Given the description of an element on the screen output the (x, y) to click on. 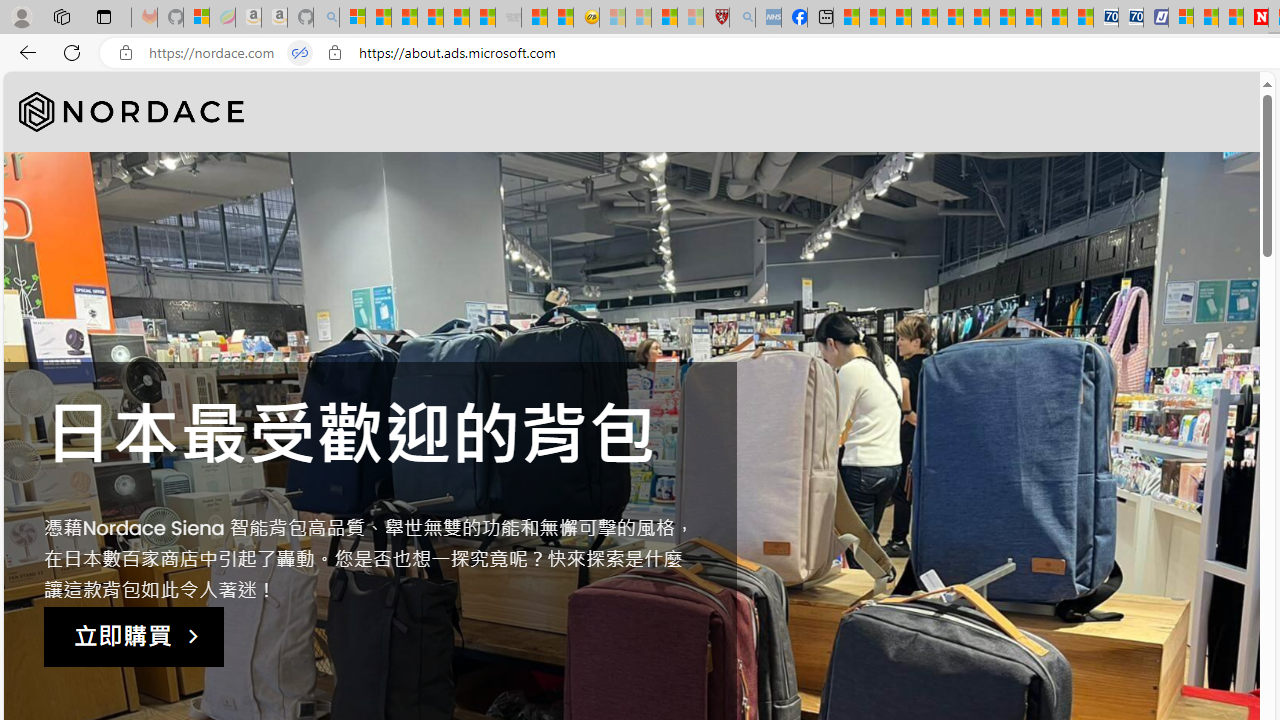
Combat Siege - Sleeping (507, 17)
Climate Damage Becomes Too Severe To Reverse (923, 17)
